Given the description of an element on the screen output the (x, y) to click on. 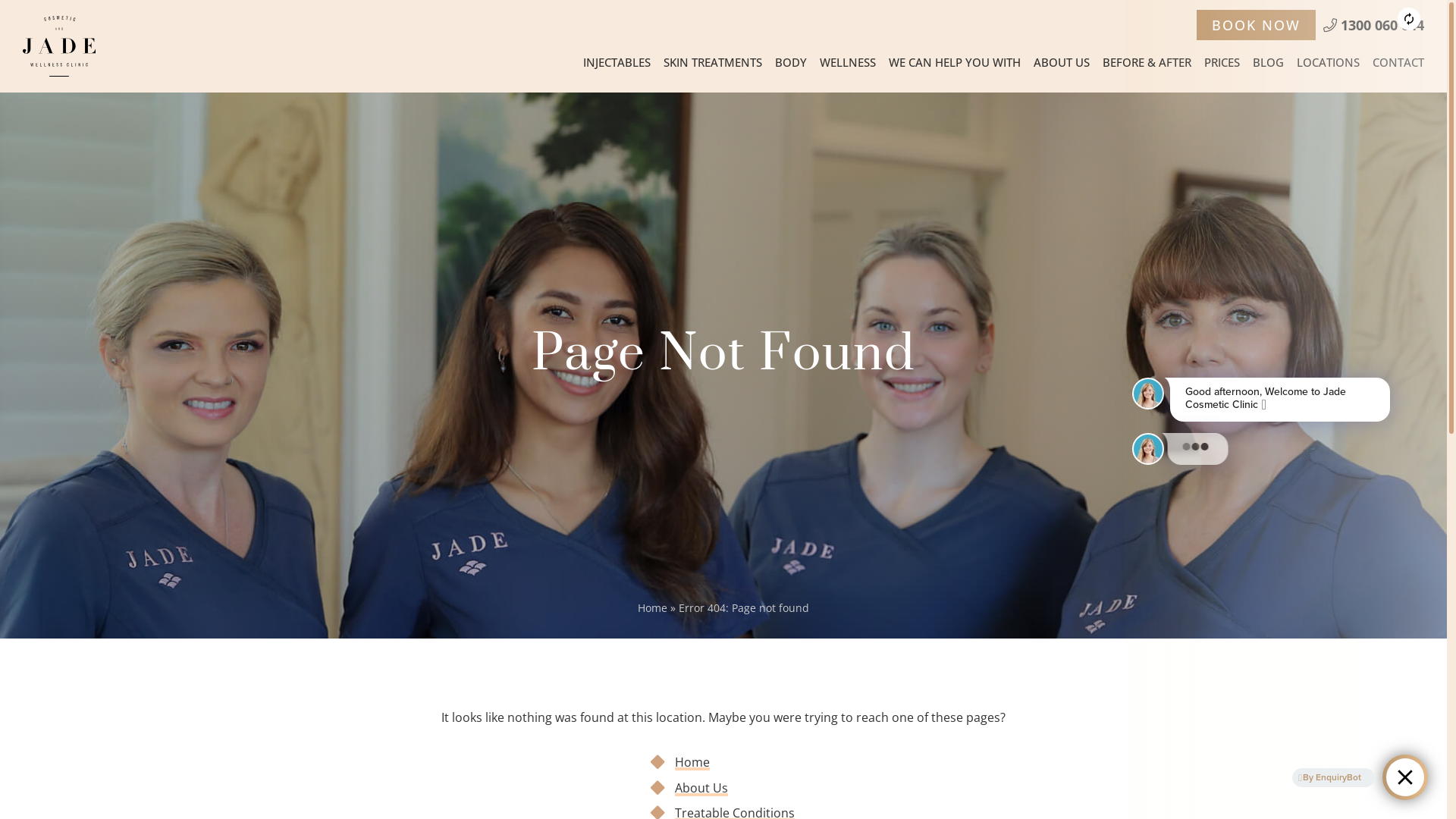
BLOG Element type: text (1267, 62)
PRICES Element type: text (1221, 62)
SKIN TREATMENTS Element type: text (712, 62)
Home Element type: text (652, 607)
BEFORE & AFTER Element type: text (1146, 62)
WE CAN HELP YOU WITH Element type: text (954, 62)
1300 060 644 Element type: text (1373, 24)
LOCATIONS Element type: text (1327, 62)
WELLNESS Element type: text (847, 62)
Home Element type: text (691, 761)
CONTACT Element type: text (1398, 62)
BOOK NOW Element type: text (1255, 24)
BODY Element type: text (790, 62)
By EnquiryBot Element type: text (1330, 776)
About Us Element type: text (701, 787)
INJECTABLES Element type: text (616, 62)
ABOUT US Element type: text (1061, 62)
